Given the description of an element on the screen output the (x, y) to click on. 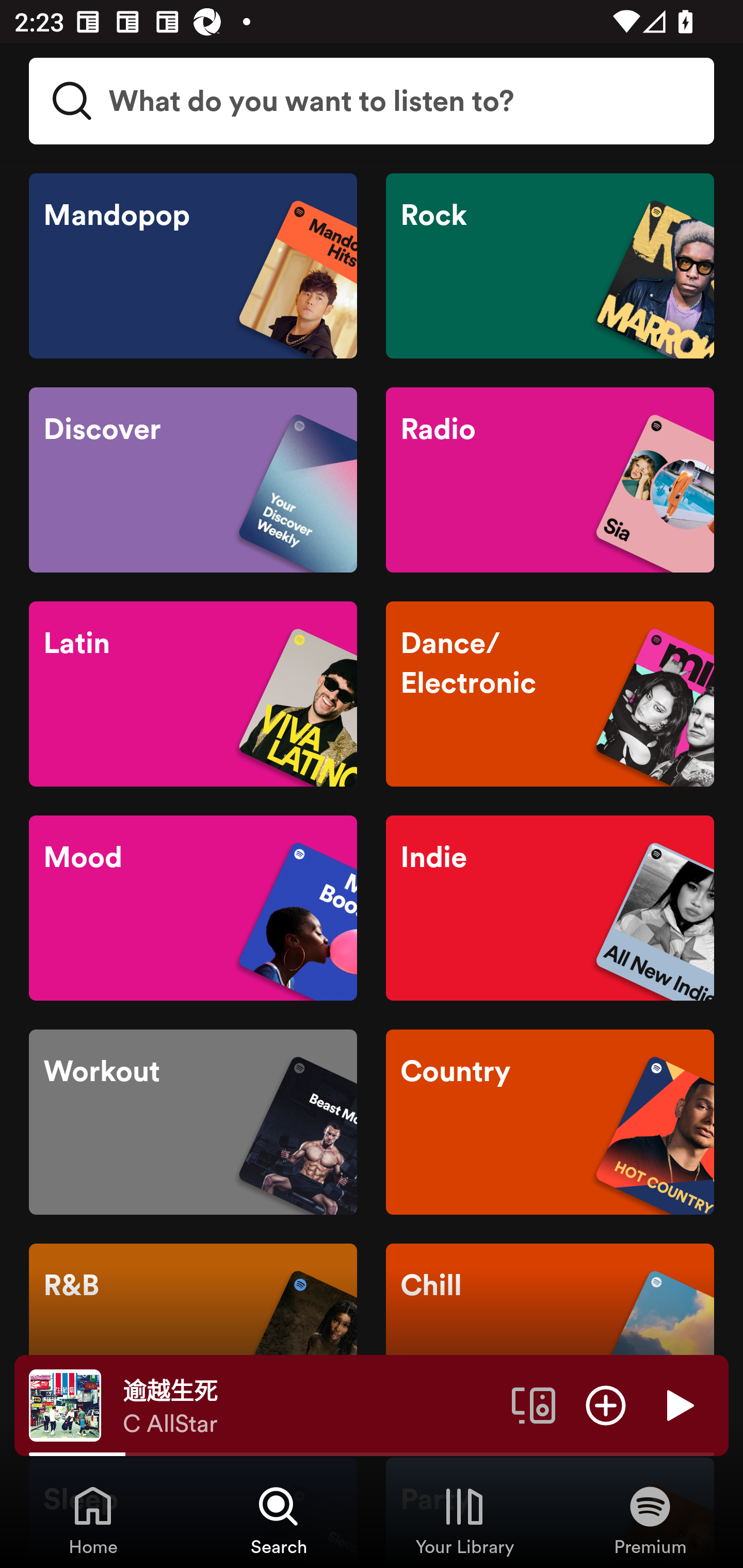
Mandopop (192, 266)
Rock (549, 266)
Discover (192, 479)
Radio (549, 479)
Latin (192, 694)
Dance/Electronic (549, 694)
Mood (192, 907)
Indie (549, 907)
Workout (192, 1122)
Country (549, 1122)
R&B (192, 1335)
Chill (549, 1335)
逾越生死 C AllStar (309, 1405)
The cover art of the currently playing track (64, 1404)
Connect to a device. Opens the devices menu (533, 1404)
Add item (605, 1404)
Play (677, 1404)
Home, Tab 1 of 4 Home Home (92, 1519)
Search, Tab 2 of 4 Search Search (278, 1519)
Your Library, Tab 3 of 4 Your Library Your Library (464, 1519)
Premium, Tab 4 of 4 Premium Premium (650, 1519)
